Given the description of an element on the screen output the (x, y) to click on. 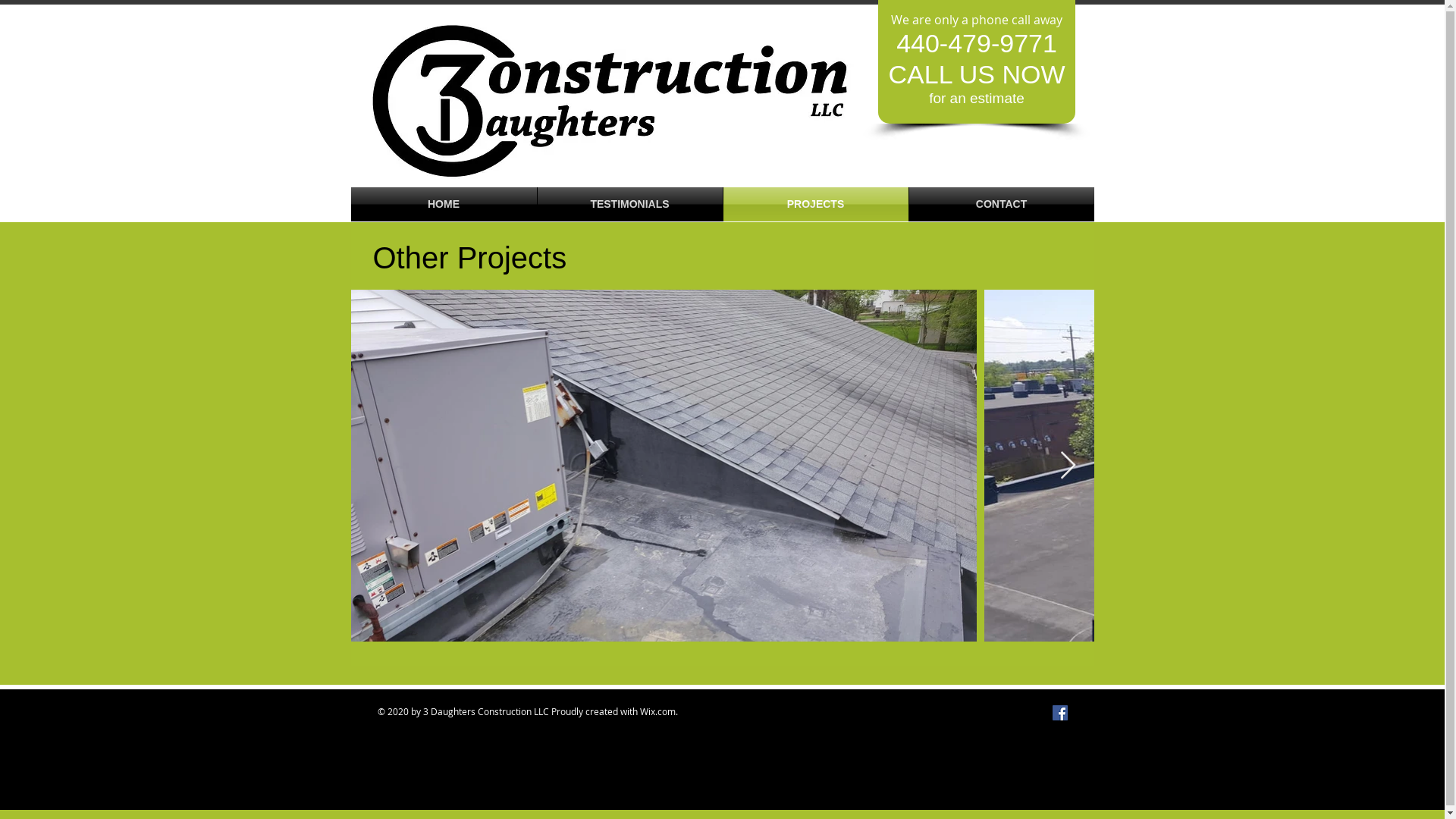
CONTACT Element type: text (1000, 204)
TESTIMONIALS Element type: text (628, 204)
HOME Element type: text (443, 204)
PROJECTS Element type: text (815, 204)
Wix.com Element type: text (657, 711)
